Given the description of an element on the screen output the (x, y) to click on. 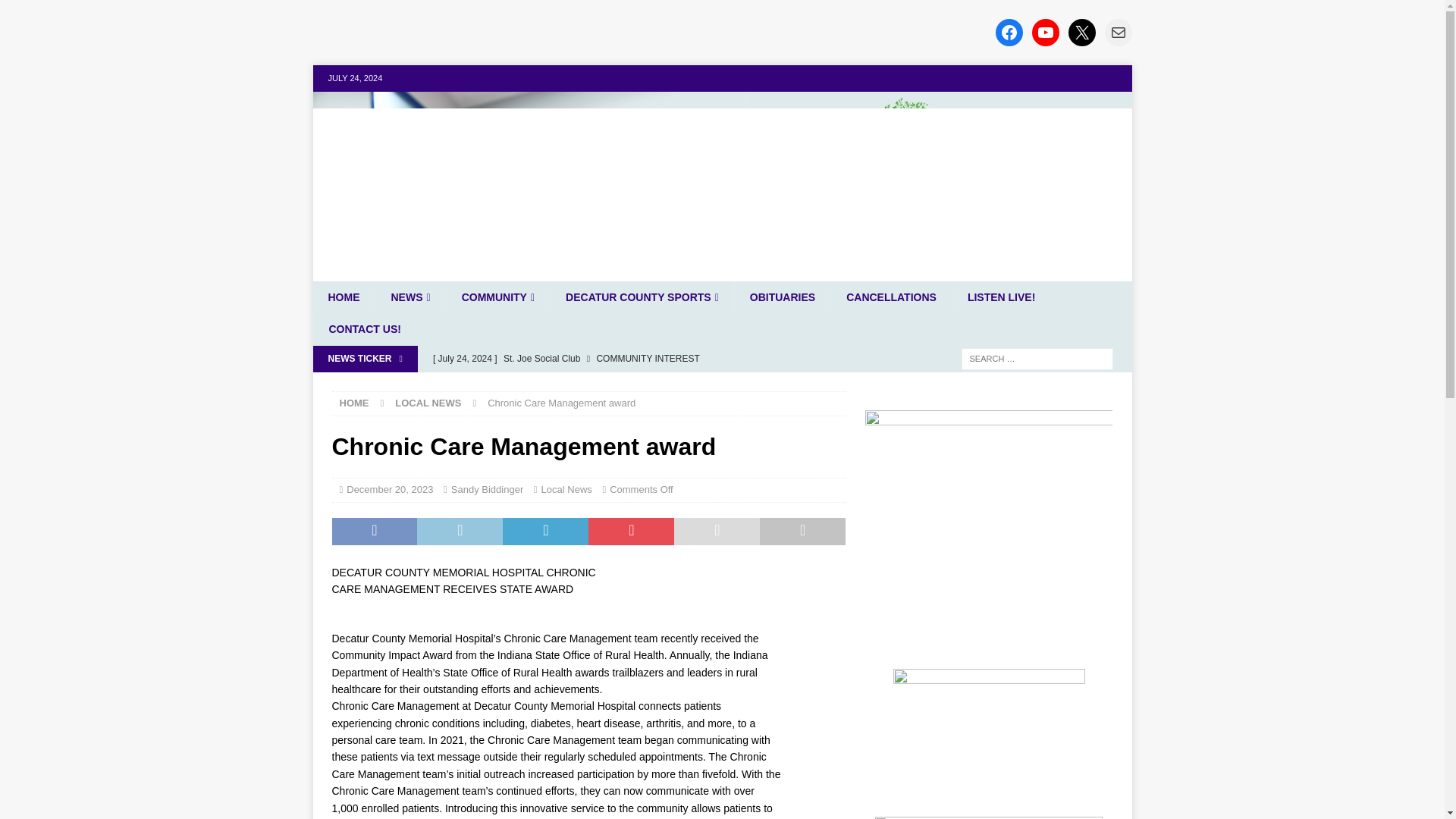
St. Joe Social Club (634, 358)
CANCELLATIONS (890, 296)
OBITUARIES (781, 296)
HOME (343, 296)
Nearly time (634, 384)
COMMUNITY (497, 296)
NEWS (409, 296)
WTRE Radio (722, 272)
CONTACT US! (363, 328)
DECATUR COUNTY SPORTS (641, 296)
HOME (354, 402)
Search (56, 11)
LISTEN LIVE! (1000, 296)
